Given the description of an element on the screen output the (x, y) to click on. 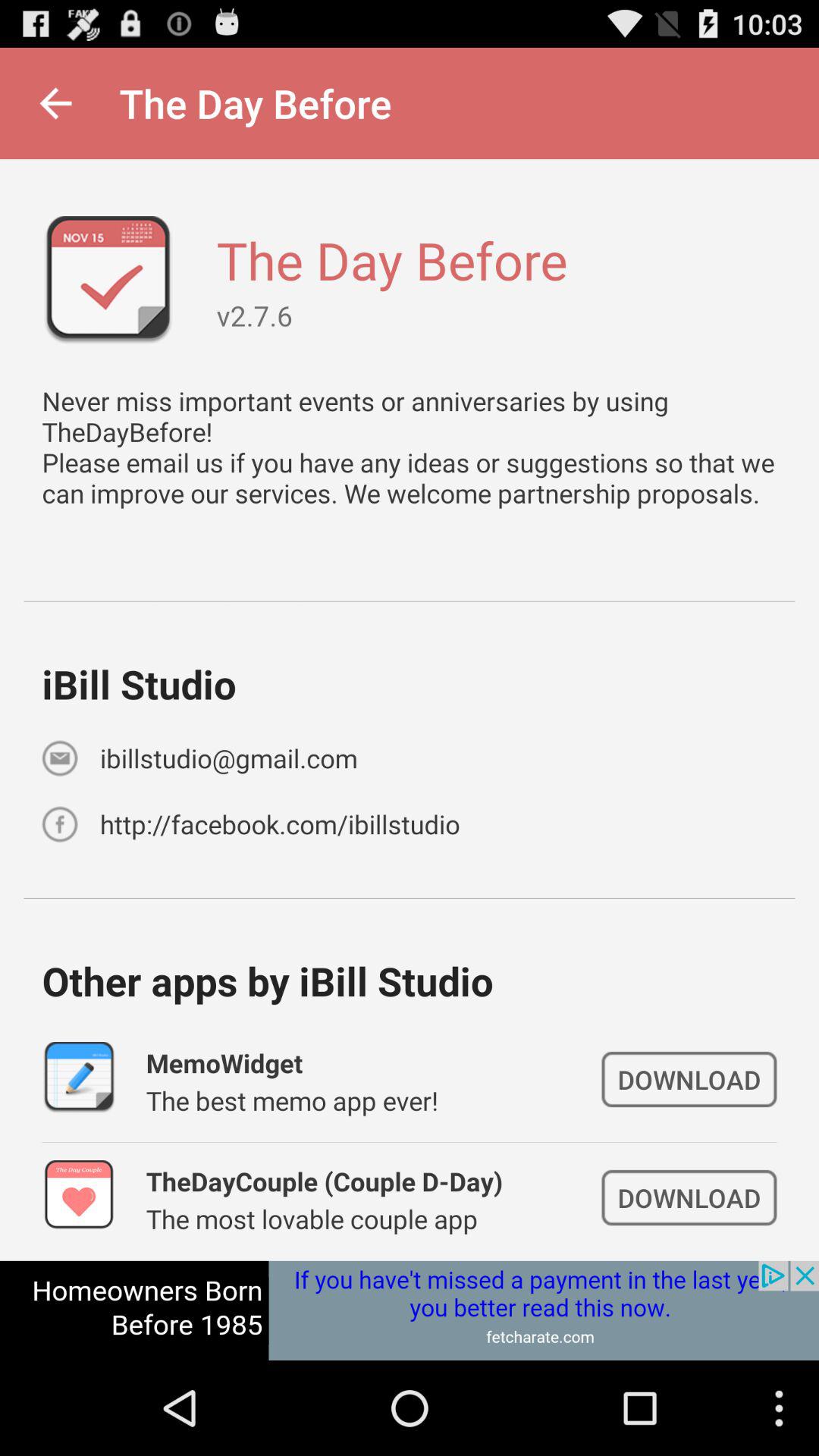
space where you access advertising (409, 1310)
